Given the description of an element on the screen output the (x, y) to click on. 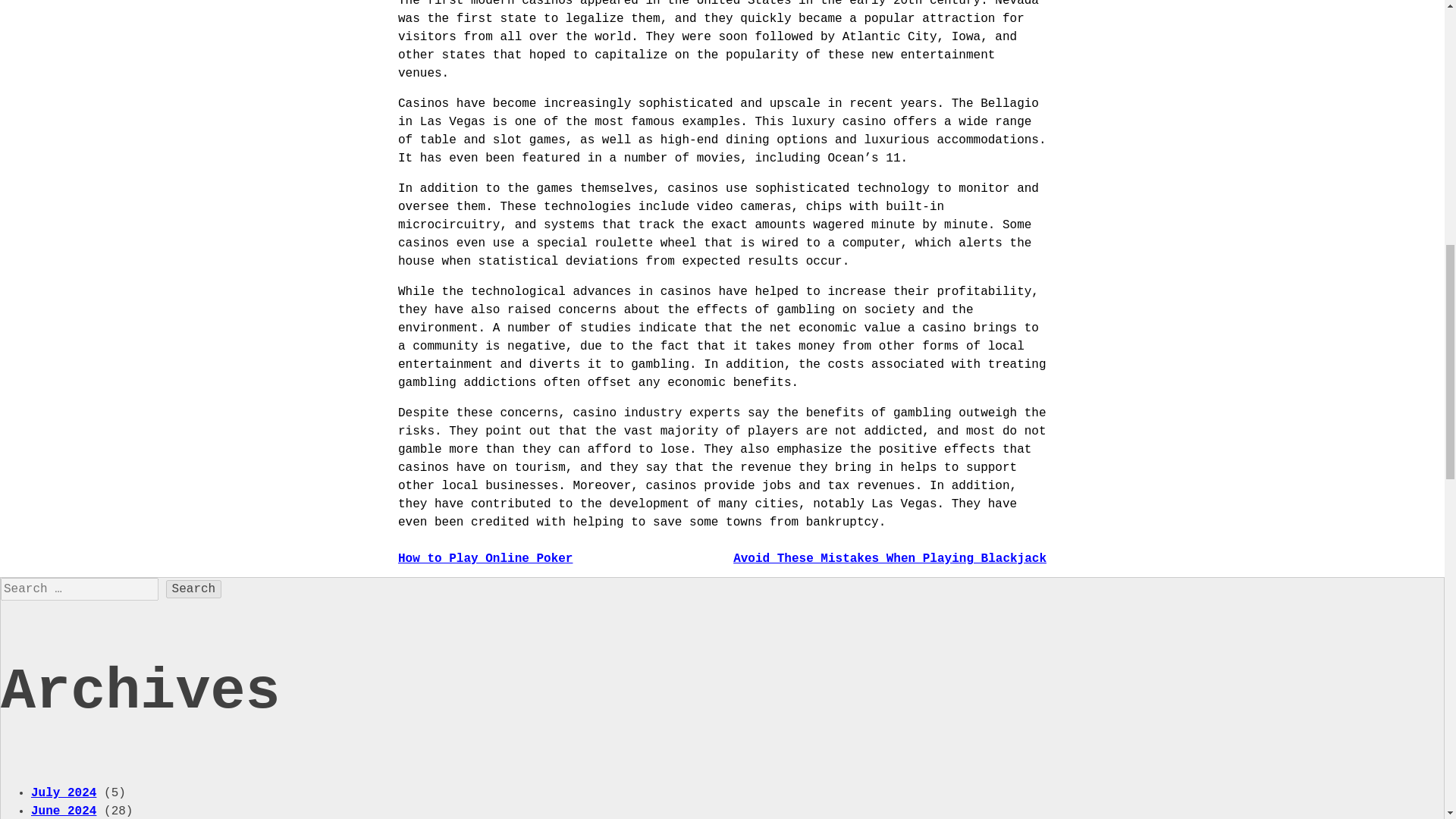
June 2024 (63, 811)
How to Play Online Poker (484, 558)
Search (193, 588)
July 2024 (63, 793)
Search (193, 588)
Avoid These Mistakes When Playing Blackjack (889, 558)
Search (193, 588)
